Given the description of an element on the screen output the (x, y) to click on. 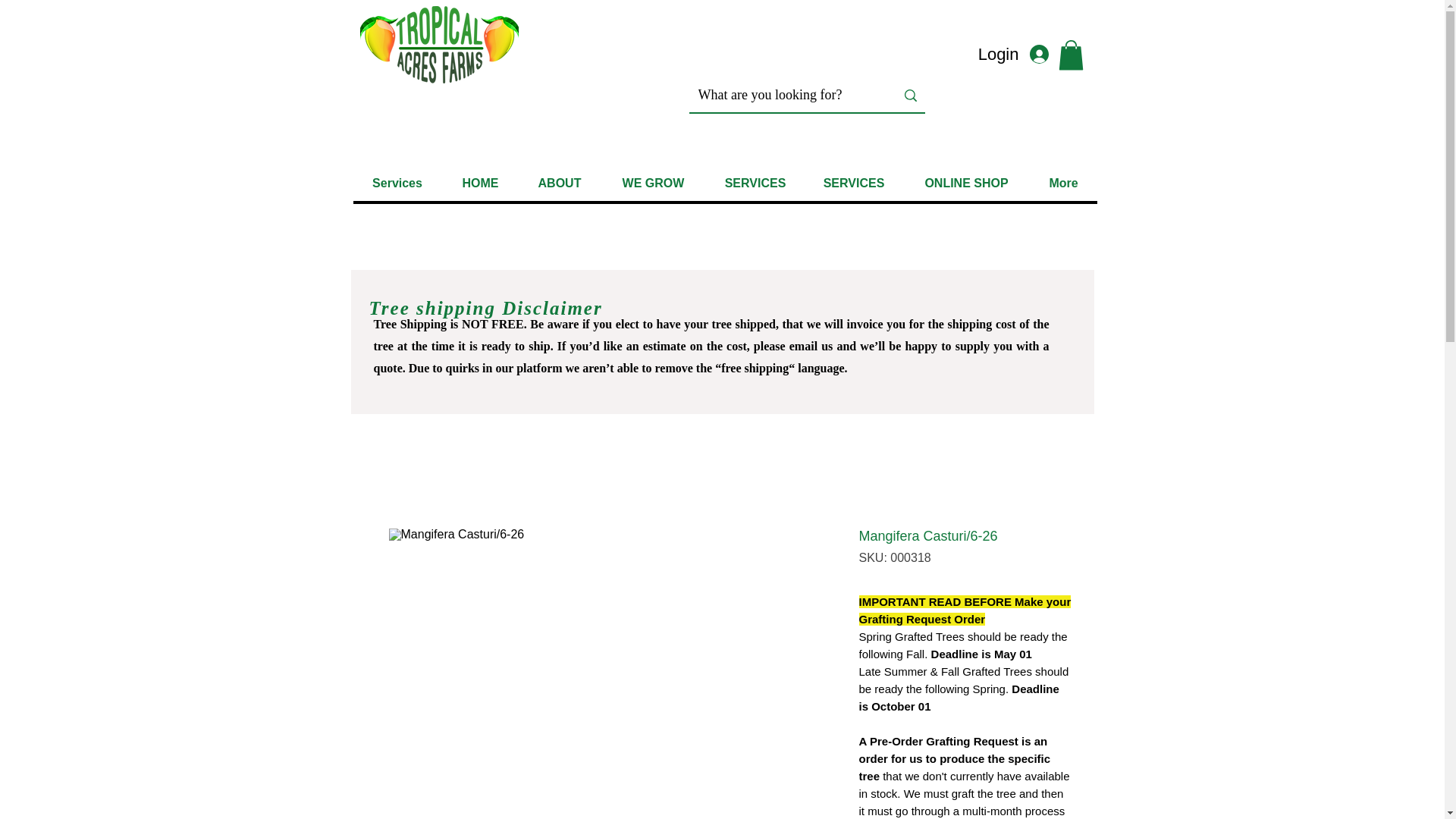
HOME (479, 182)
ONLINE SHOP (965, 182)
Services (397, 182)
ABOUT (558, 182)
Login (1020, 54)
SERVICES (753, 182)
